Given the description of an element on the screen output the (x, y) to click on. 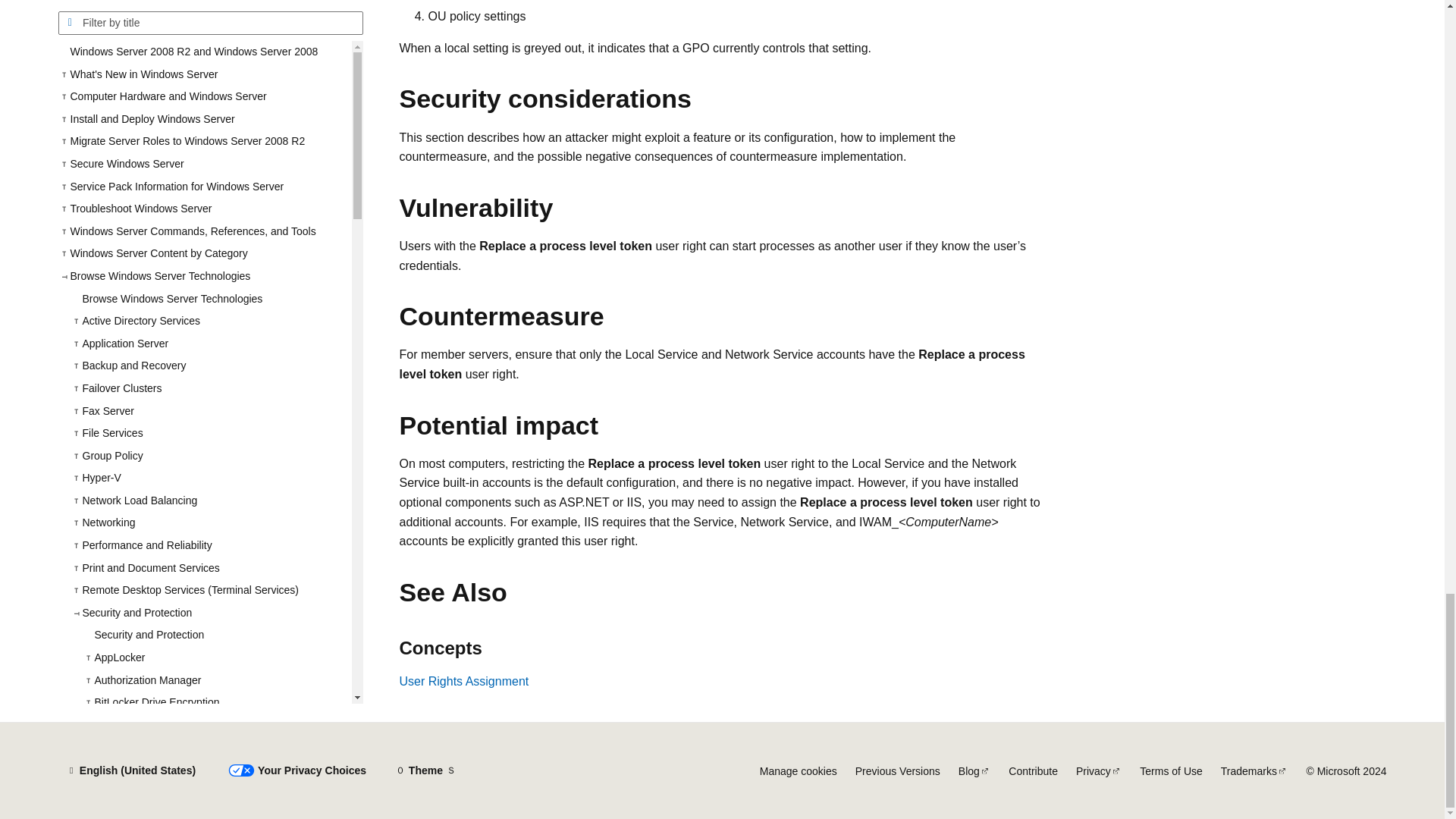
Theme (425, 770)
